Given the description of an element on the screen output the (x, y) to click on. 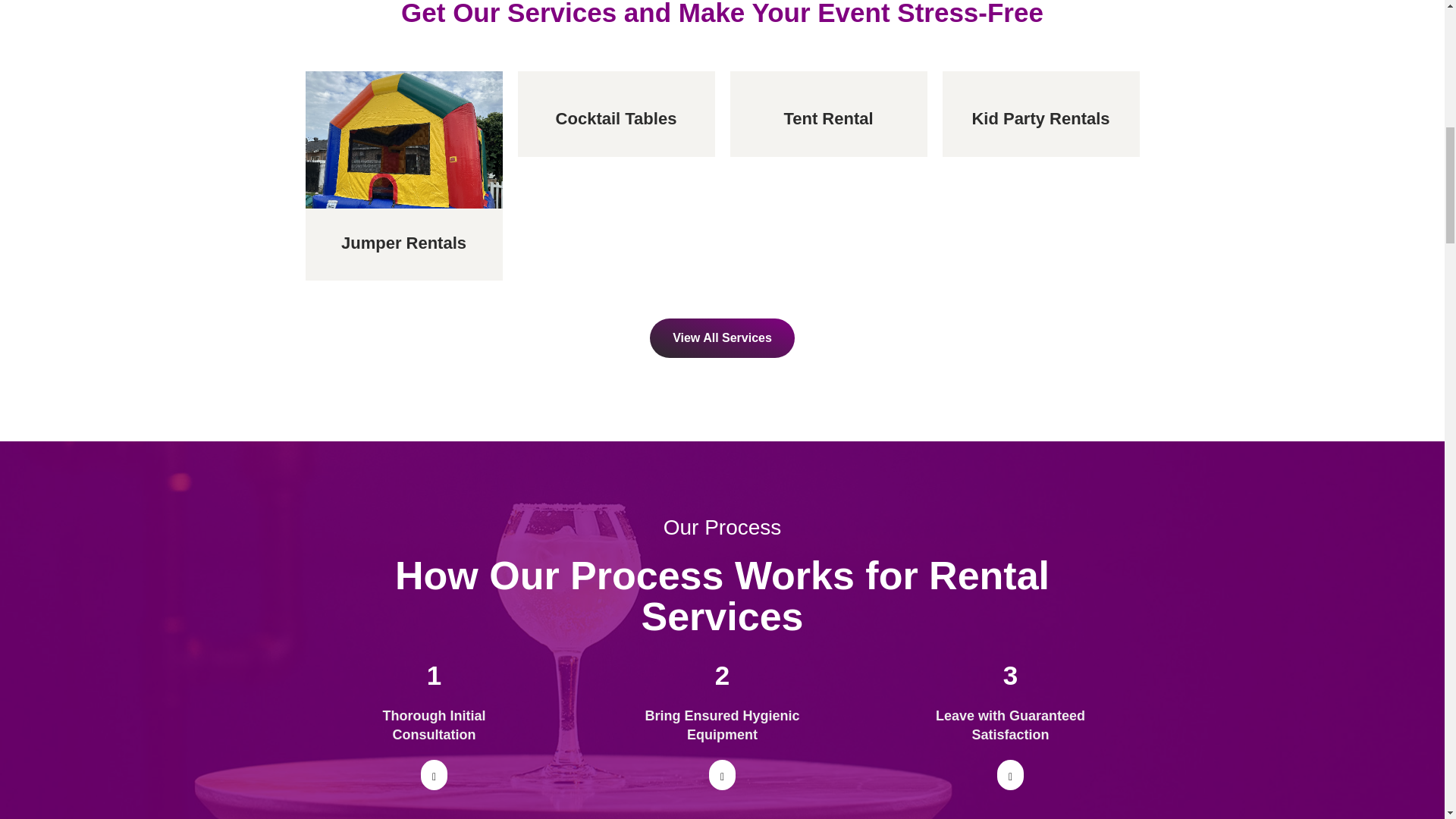
Jumper Rentals (402, 242)
View All Services (721, 337)
Cocktail Tables (616, 117)
Kid Party Rentals (1040, 117)
Tent Rental (827, 117)
